Given the description of an element on the screen output the (x, y) to click on. 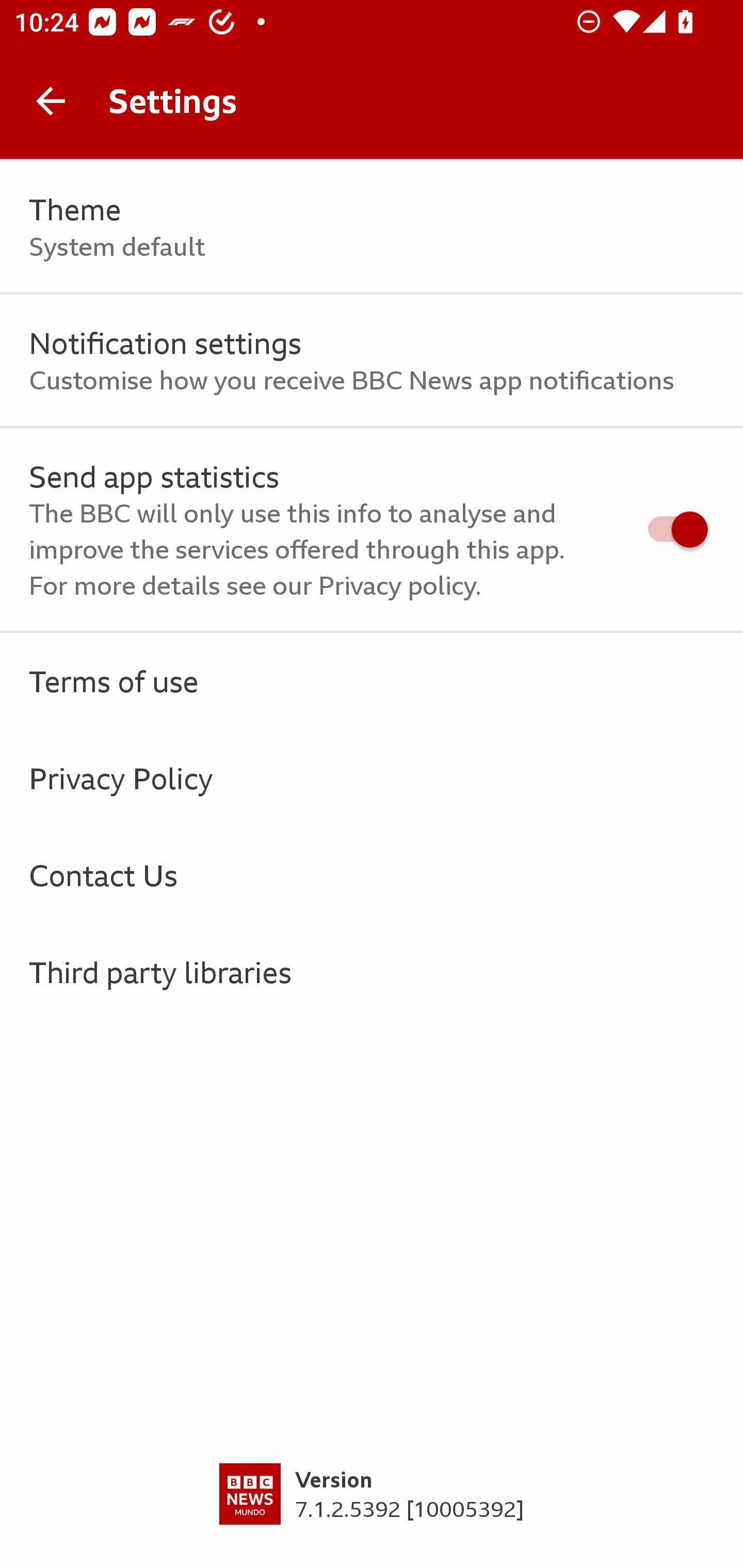
Back (50, 101)
Theme System default (371, 227)
Terms of use (371, 681)
Privacy Policy (371, 777)
Contact Us (371, 874)
Third party libraries (371, 971)
Version 7.1.2.5392 [10005392] (371, 1515)
